Given the description of an element on the screen output the (x, y) to click on. 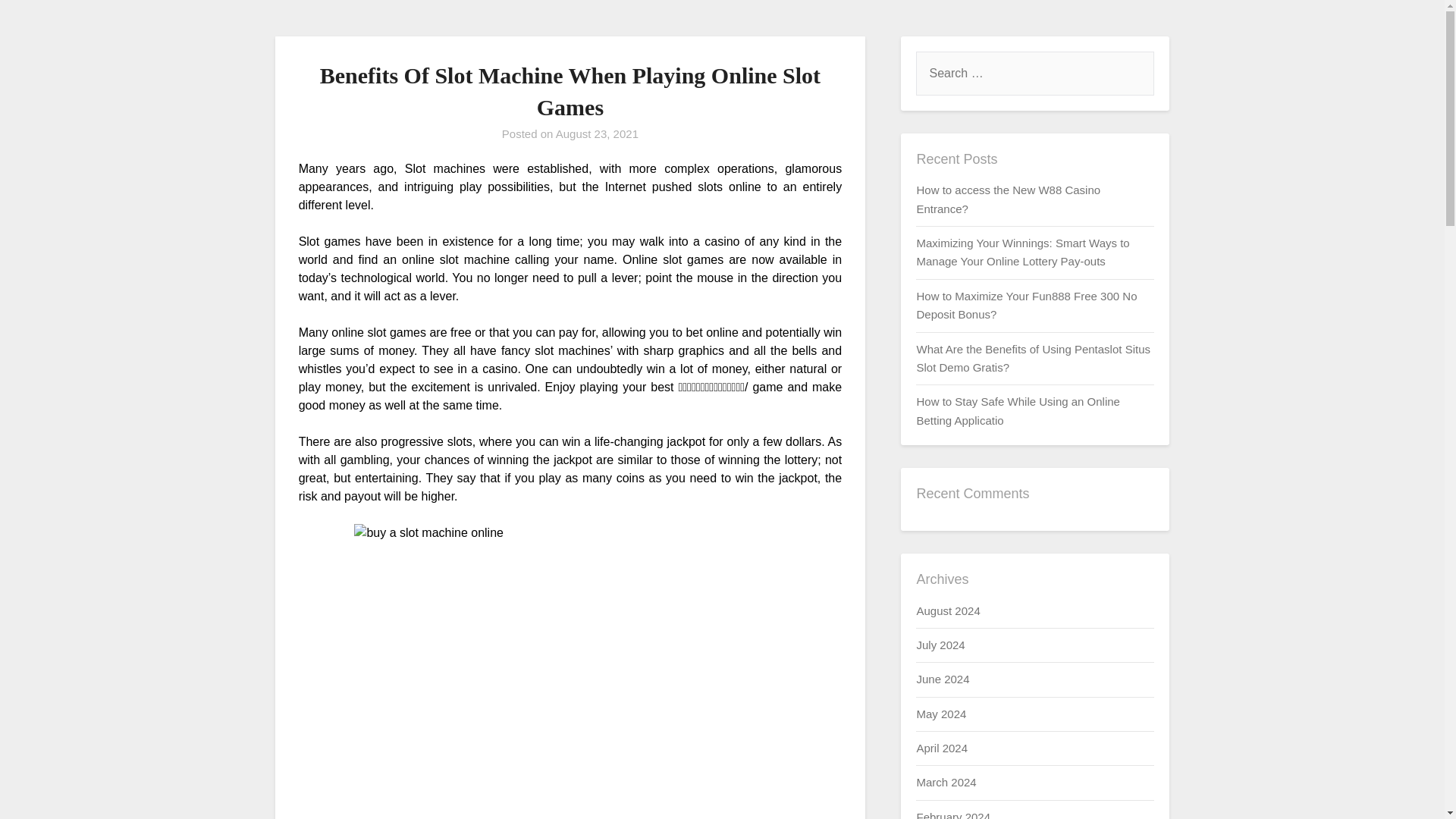
Search (37, 22)
August 23, 2021 (597, 133)
April 2024 (941, 748)
How to Maximize Your Fun888 Free 300 No Deposit Bonus? (1026, 305)
August 2024 (947, 609)
July 2024 (939, 644)
March 2024 (945, 781)
How to Stay Safe While Using an Online Betting Applicatio (1017, 409)
How to access the New W88 Casino Entrance? (1007, 198)
